Given the description of an element on the screen output the (x, y) to click on. 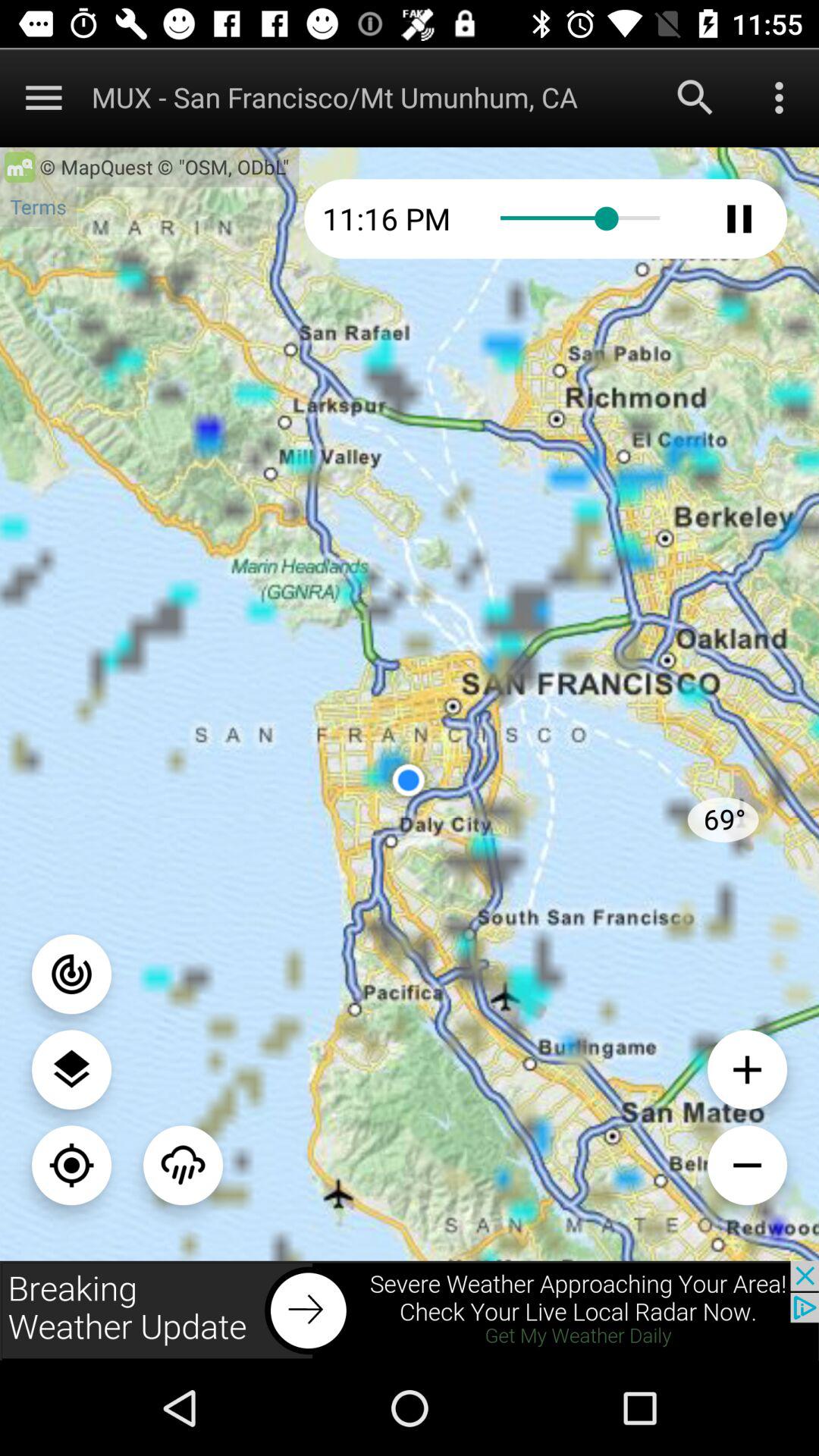
switch off the button (71, 974)
